Given the description of an element on the screen output the (x, y) to click on. 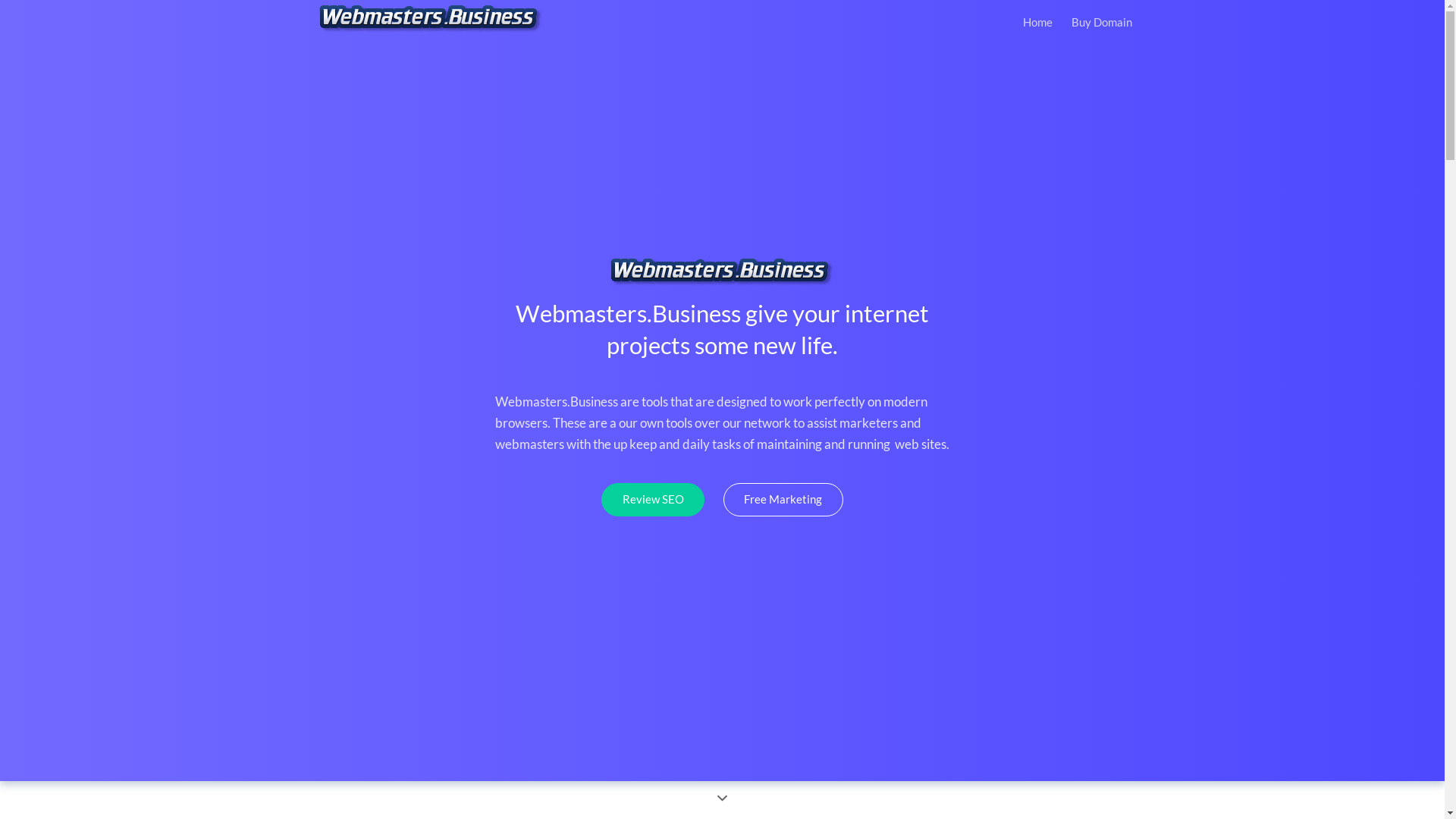
Home Element type: text (1037, 24)
Review SEO Element type: text (652, 499)
Home Element type: text (26, 20)
Buy Domain Element type: text (1100, 24)
Free Marketing Element type: text (783, 499)
Buy Domain Element type: text (31, 72)
